Given the description of an element on the screen output the (x, y) to click on. 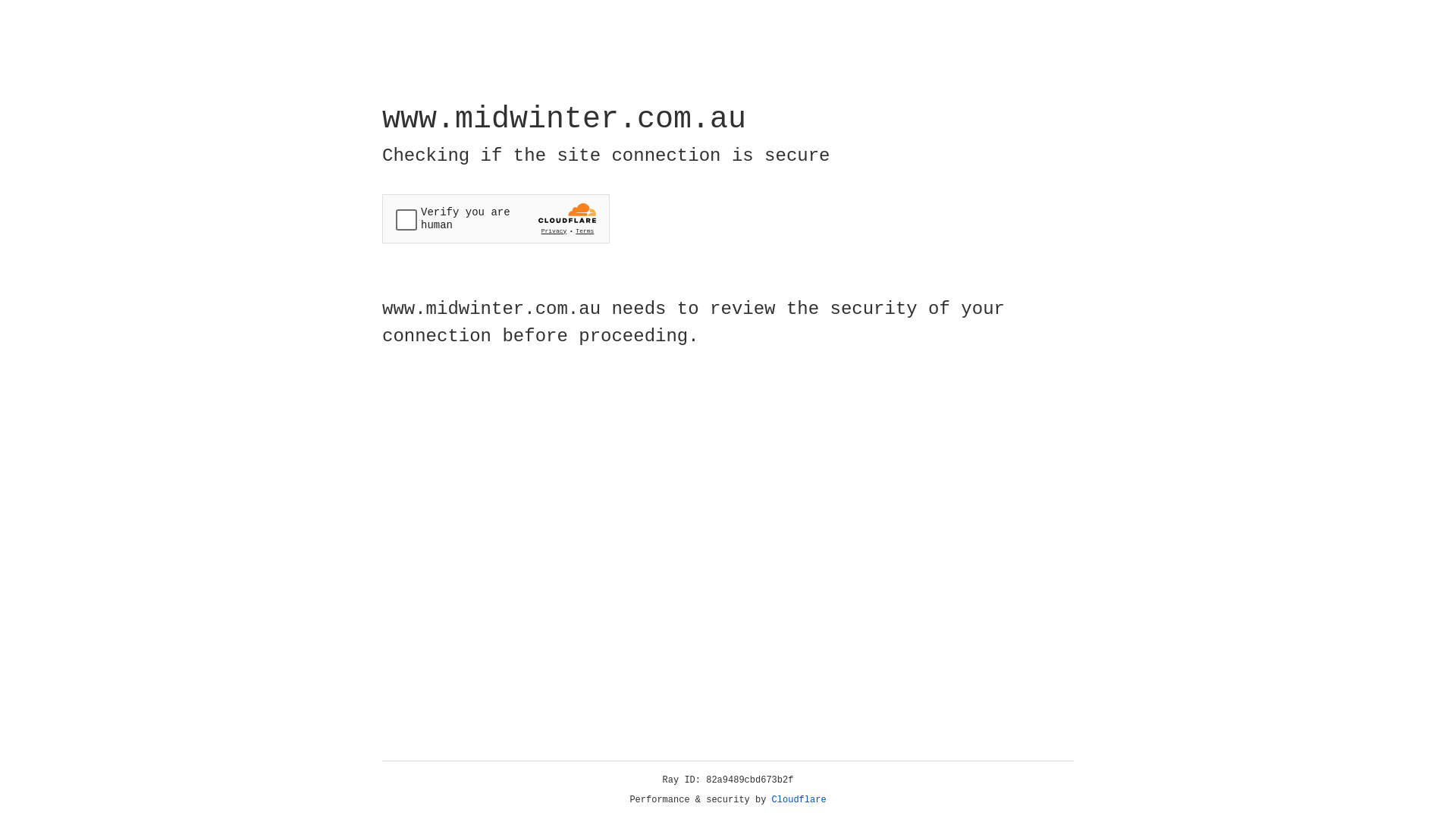
Cloudflare Element type: text (798, 799)
Widget containing a Cloudflare security challenge Element type: hover (495, 218)
